Given the description of an element on the screen output the (x, y) to click on. 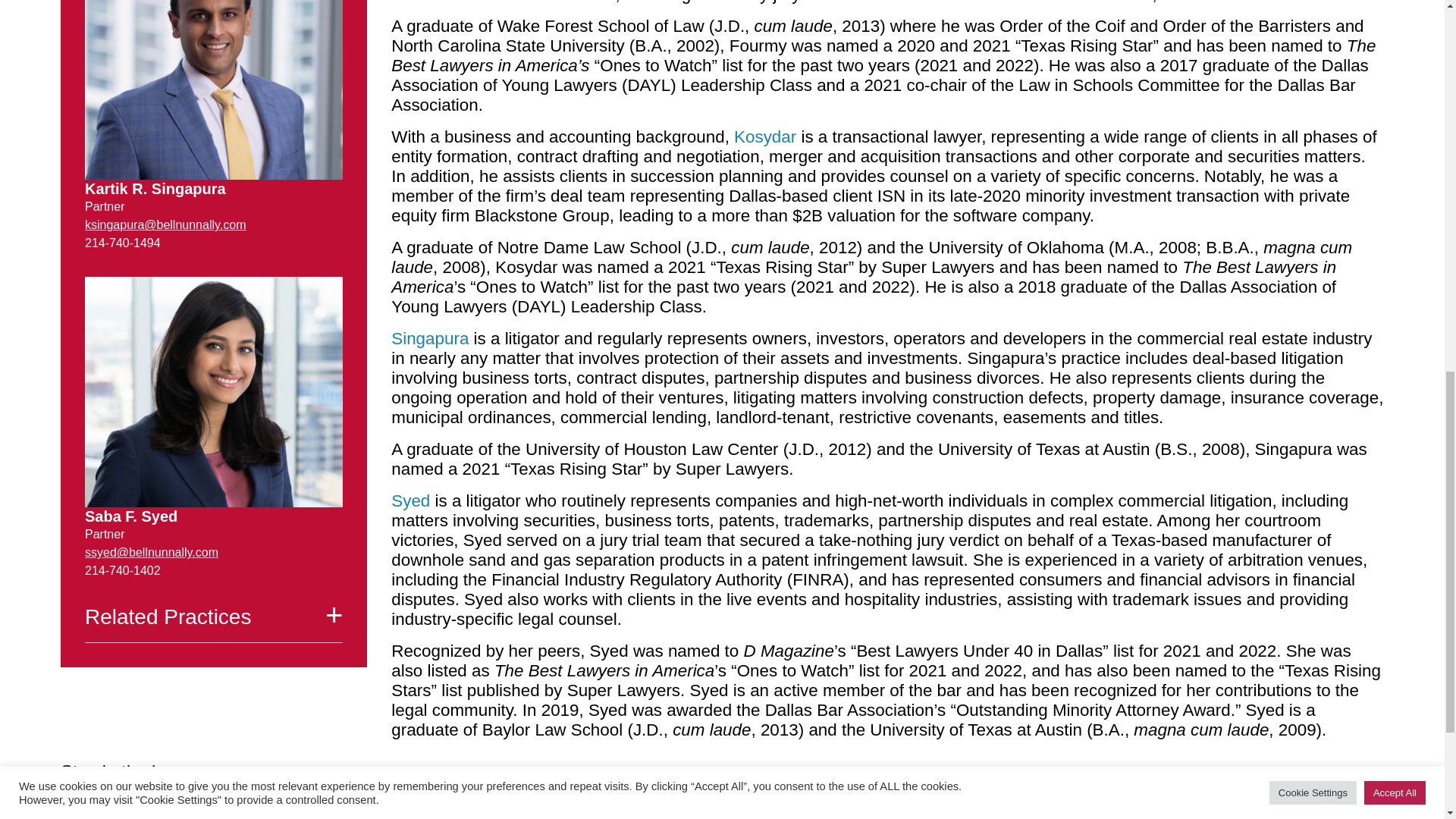
Direct Phone (122, 570)
Subscribe to our email list! (452, 803)
Kosydar (764, 136)
214-740-1494 (122, 242)
Email (151, 552)
Email (165, 224)
Singapura (429, 338)
Syed (410, 500)
Direct Phone (122, 242)
214-740-1402 (122, 570)
